Given the description of an element on the screen output the (x, y) to click on. 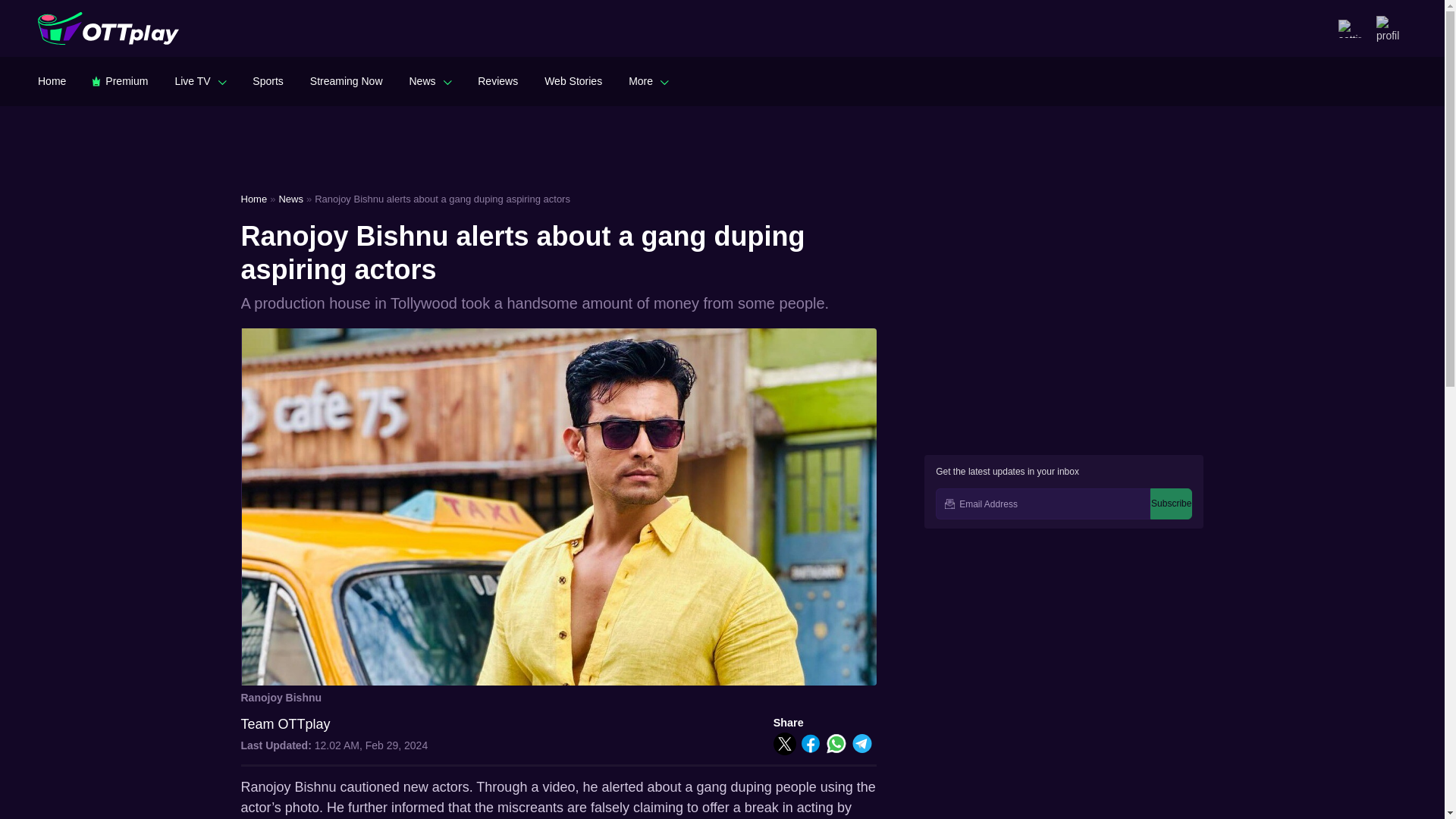
Live TV (199, 80)
Streaming Now (346, 80)
News (430, 80)
Premium (120, 80)
Web Stories (573, 80)
